Given the description of an element on the screen output the (x, y) to click on. 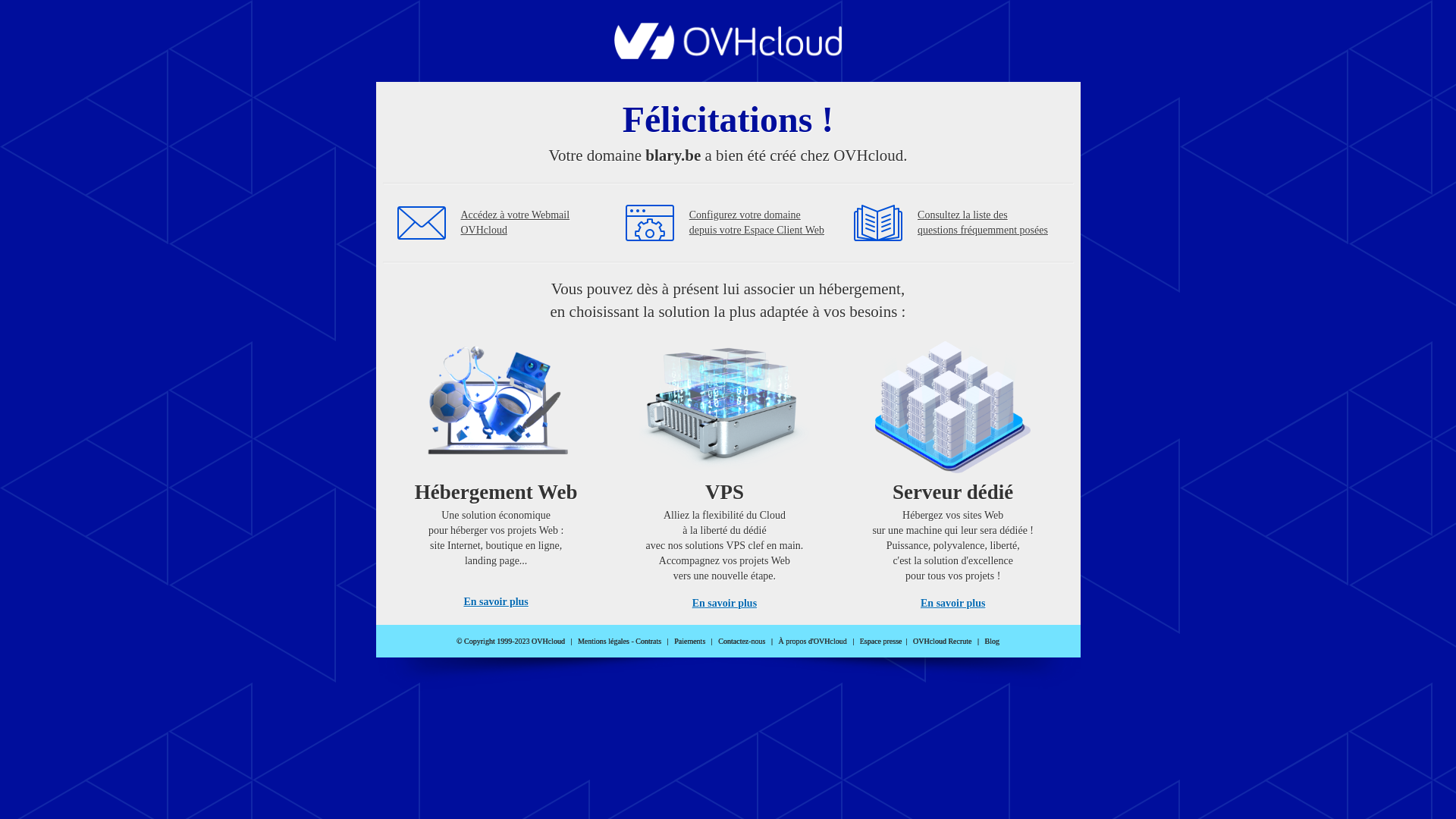
Contactez-nous Element type: text (741, 641)
Blog Element type: text (992, 641)
En savoir plus Element type: text (952, 602)
En savoir plus Element type: text (495, 601)
En savoir plus Element type: text (724, 602)
Espace presse Element type: text (880, 641)
VPS Element type: hover (724, 469)
OVHcloud Recrute Element type: text (942, 641)
Configurez votre domaine
depuis votre Espace Client Web Element type: text (756, 222)
Paiements Element type: text (689, 641)
OVHcloud Element type: hover (727, 54)
